Given the description of an element on the screen output the (x, y) to click on. 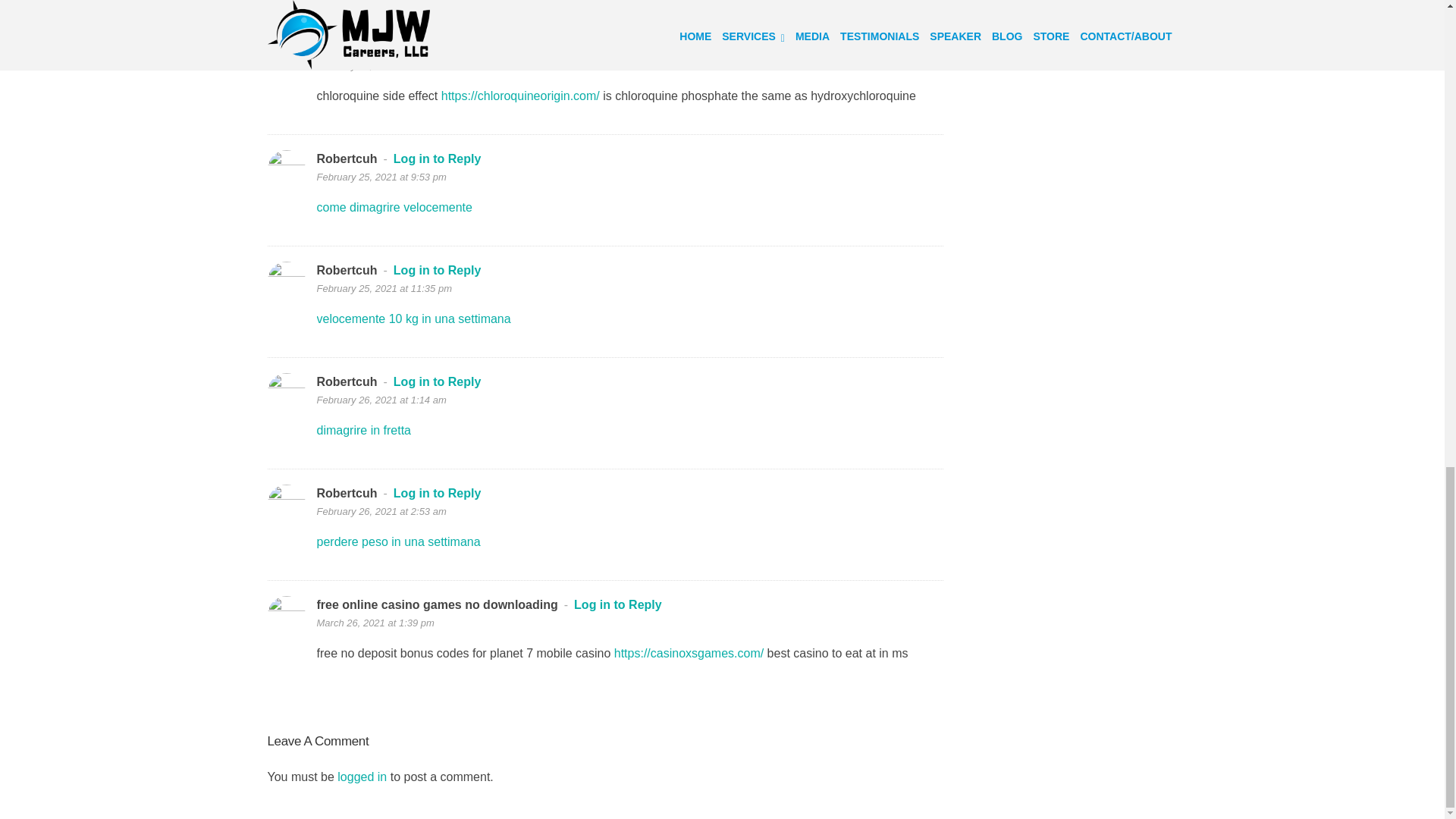
resochin (342, 47)
Log in to Reply (427, 47)
Robertcuh (347, 158)
